Given the description of an element on the screen output the (x, y) to click on. 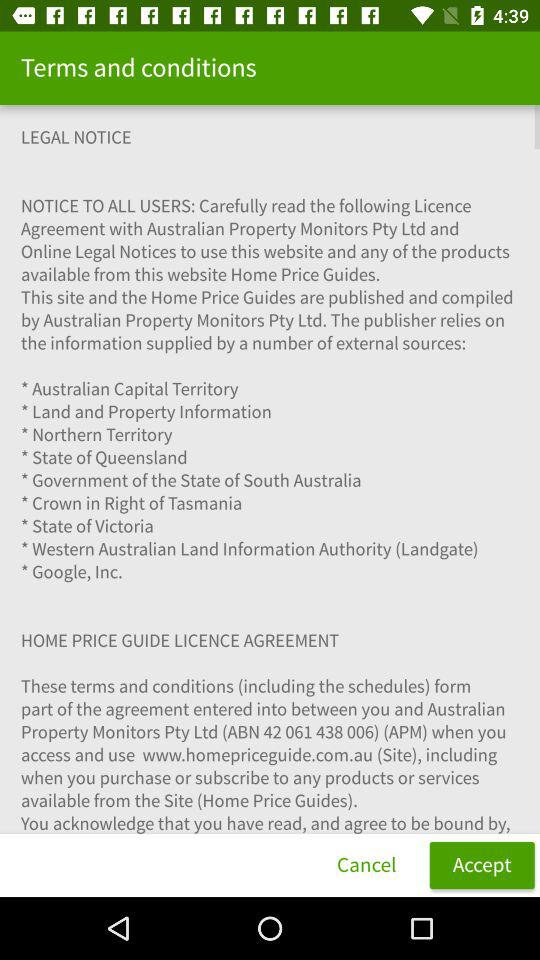
scroll until the cancel icon (366, 864)
